Given the description of an element on the screen output the (x, y) to click on. 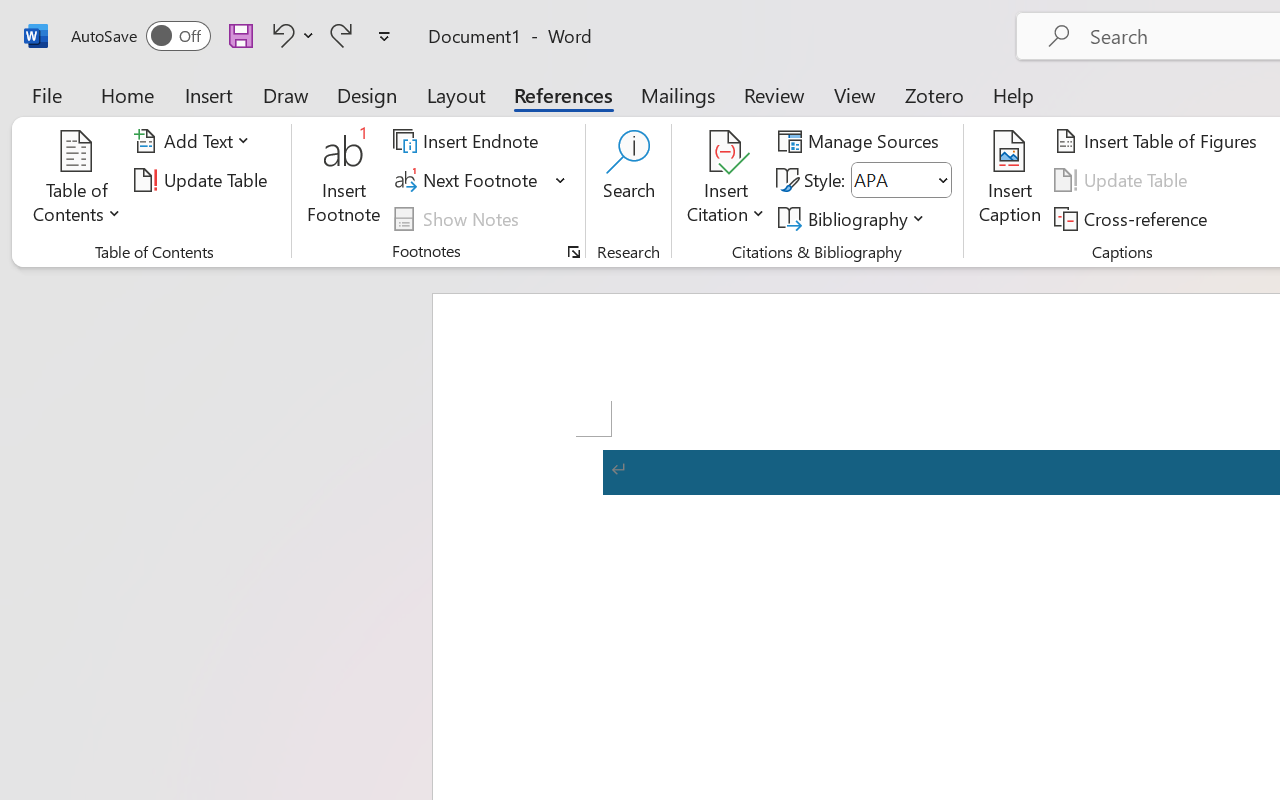
Insert Table of Figures... (1158, 141)
Next Footnote (479, 179)
Show Notes (459, 218)
Cross-reference... (1133, 218)
Undo Apply Quick Style Set (290, 35)
Update Table (1124, 179)
Footnote and Endnote Dialog... (573, 252)
